Given the description of an element on the screen output the (x, y) to click on. 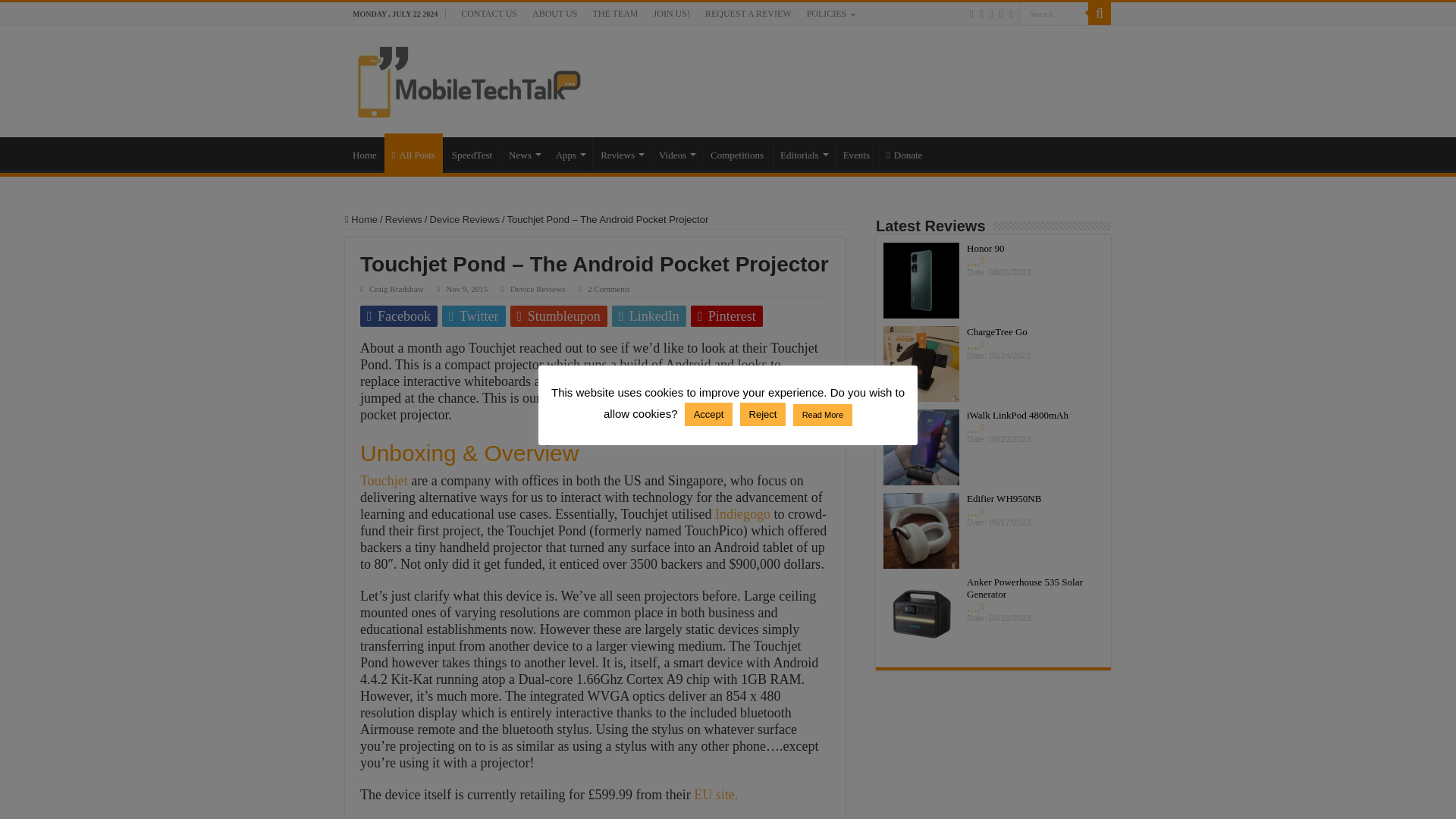
MobileTechTalk (469, 77)
Advertisement (872, 74)
POLICIES (830, 13)
Search (1053, 13)
REQUEST A REVIEW (748, 13)
THE TEAM (615, 13)
Search (1053, 13)
JOIN US! (671, 13)
Search (1053, 13)
Search (1098, 13)
ABOUT US (554, 13)
CONTACT US (488, 13)
